Given the description of an element on the screen output the (x, y) to click on. 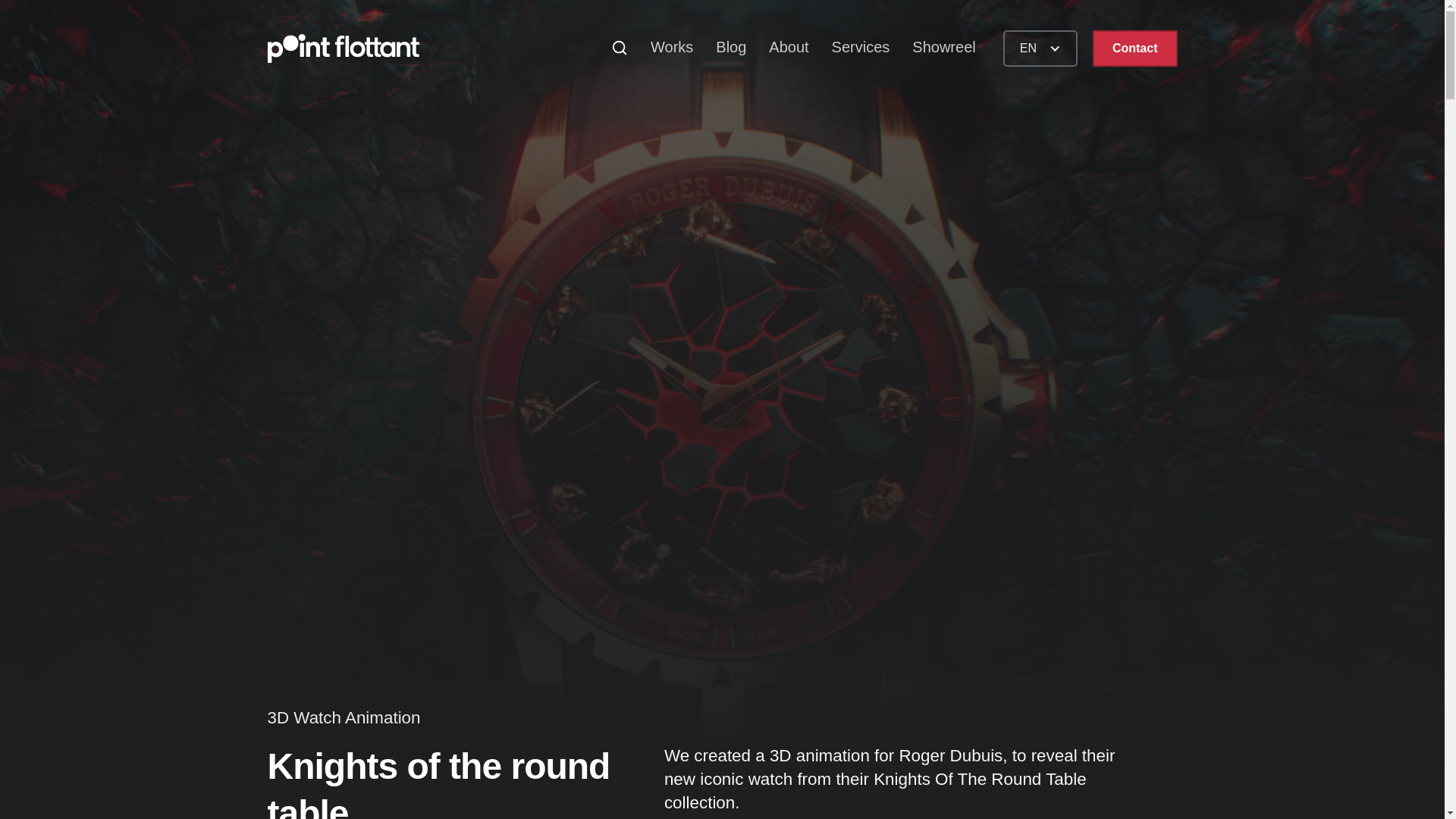
Read our articles (719, 47)
About (776, 47)
Contact (1135, 48)
Blog (719, 47)
Showreel (932, 47)
Works (660, 47)
Discover our work (660, 47)
Discover our services (849, 47)
Services (849, 47)
Point Flottant Homepage (342, 48)
Watch our showreel (932, 47)
Contact us (1135, 48)
About our Studio (776, 47)
